Given the description of an element on the screen output the (x, y) to click on. 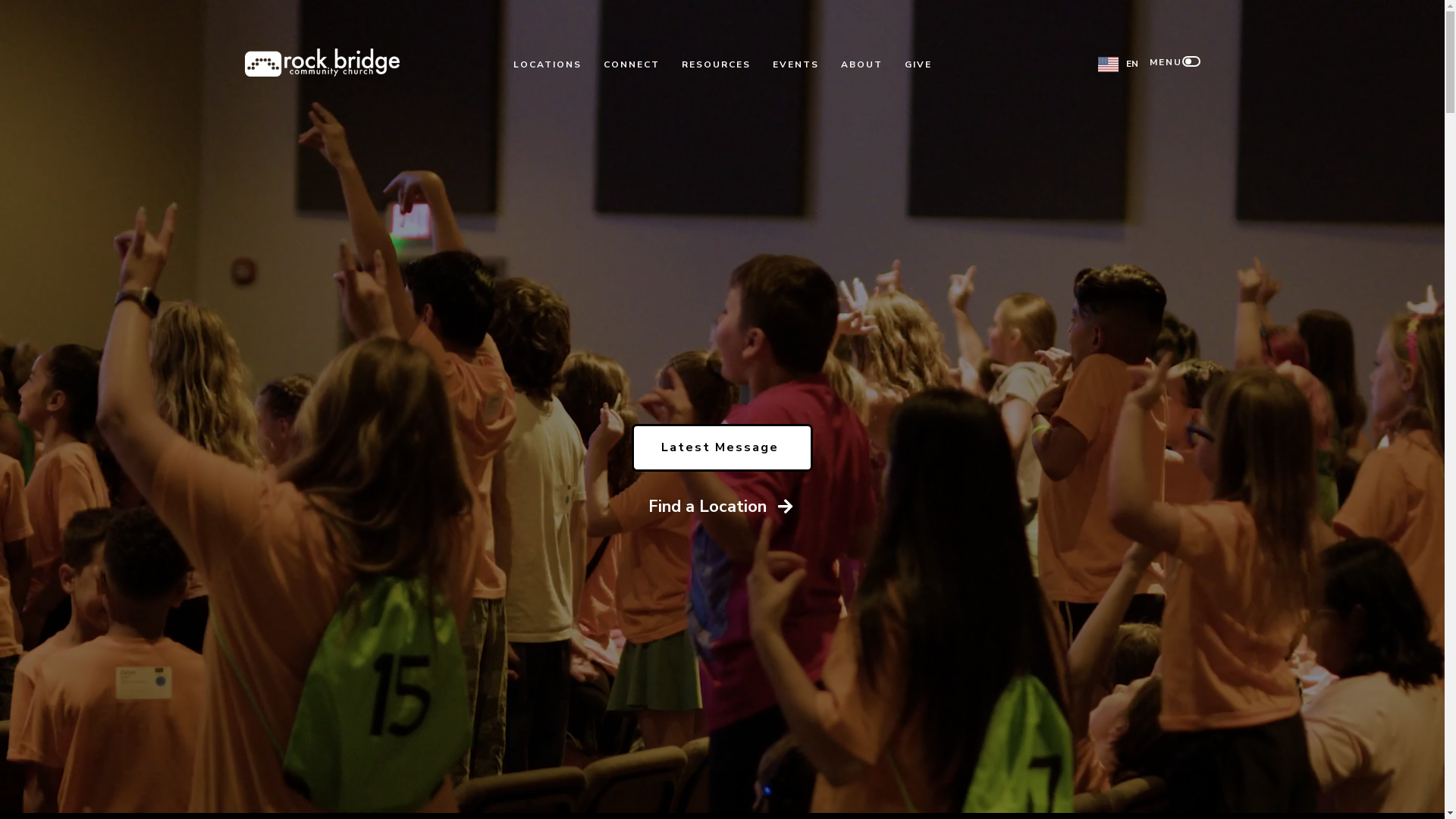
Find a Location Element type: text (720, 510)
LOCATIONS Element type: text (547, 64)
ABOUT Element type: text (861, 64)
GIVE Element type: text (918, 64)
RBCC-Full-Logo-Horizontal-White Element type: hover (321, 62)
EVENTS Element type: text (795, 64)
RESOURCES Element type: text (716, 64)
CONNECT Element type: text (631, 64)
Latest Message Element type: text (721, 447)
